Given the description of an element on the screen output the (x, y) to click on. 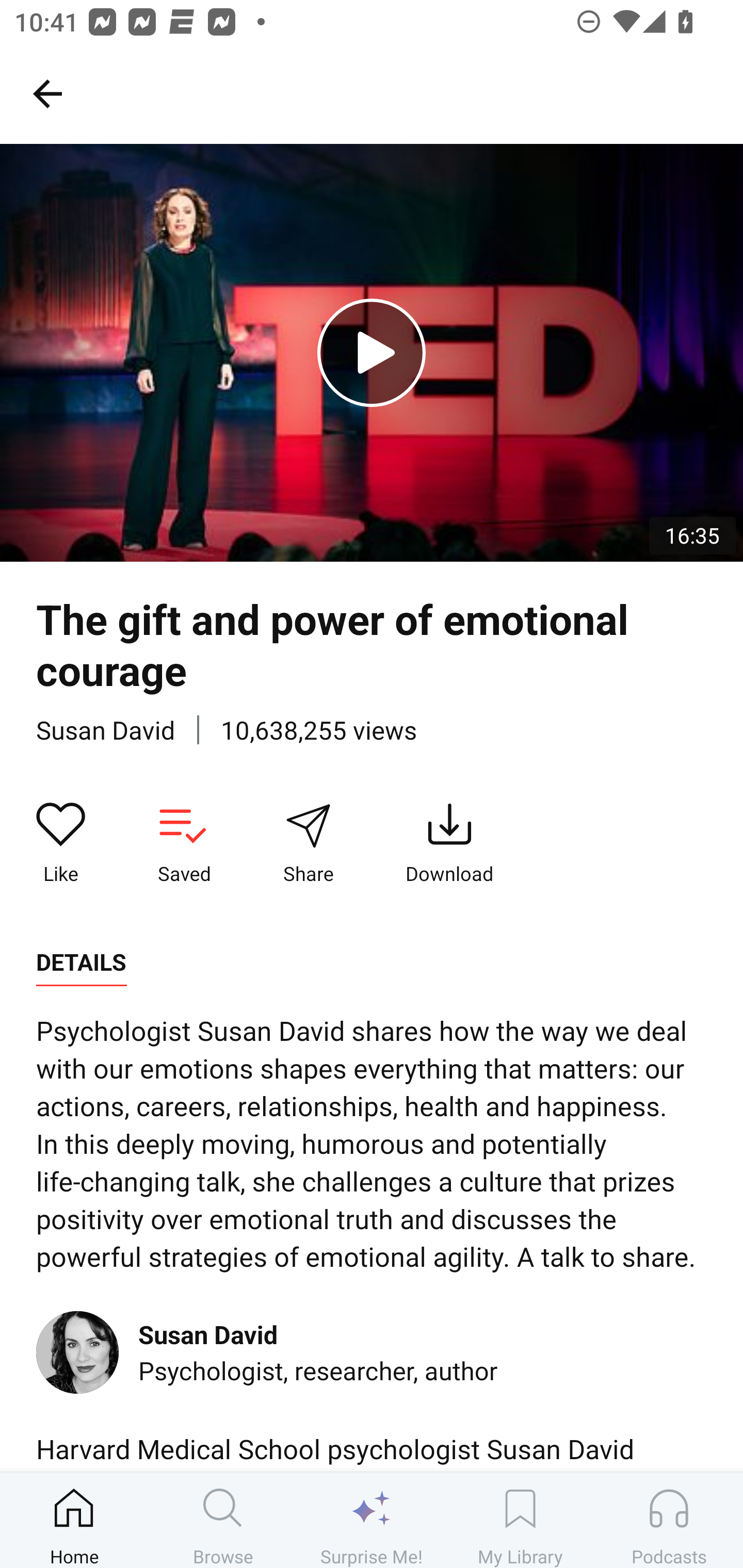
Home, back (47, 92)
Like (60, 843)
Saved (183, 843)
Share (308, 843)
Download (449, 843)
DETAILS (80, 962)
Home (74, 1520)
Browse (222, 1520)
Surprise Me! (371, 1520)
My Library (519, 1520)
Podcasts (668, 1520)
